Given the description of an element on the screen output the (x, y) to click on. 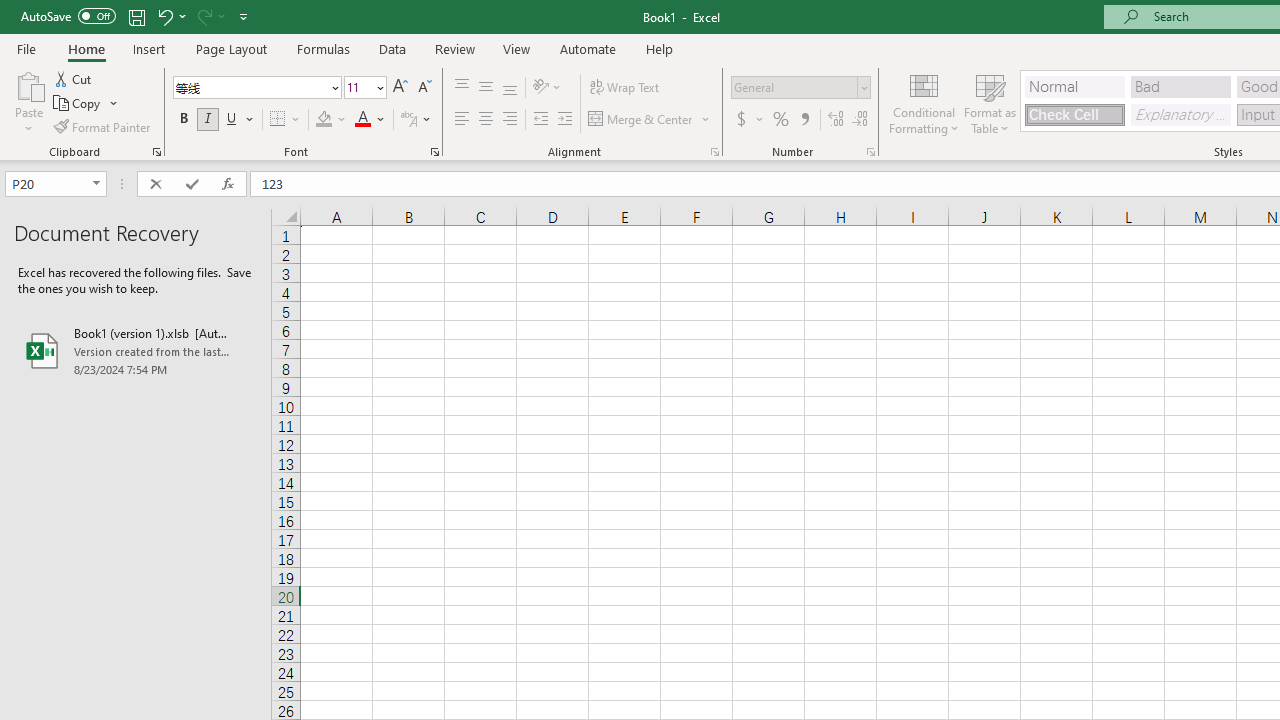
Check Cell (1074, 114)
Accounting Number Format (741, 119)
Top Align (461, 87)
Underline (232, 119)
Percent Style (781, 119)
Paste (28, 84)
Center (485, 119)
Bottom Align (509, 87)
